Given the description of an element on the screen output the (x, y) to click on. 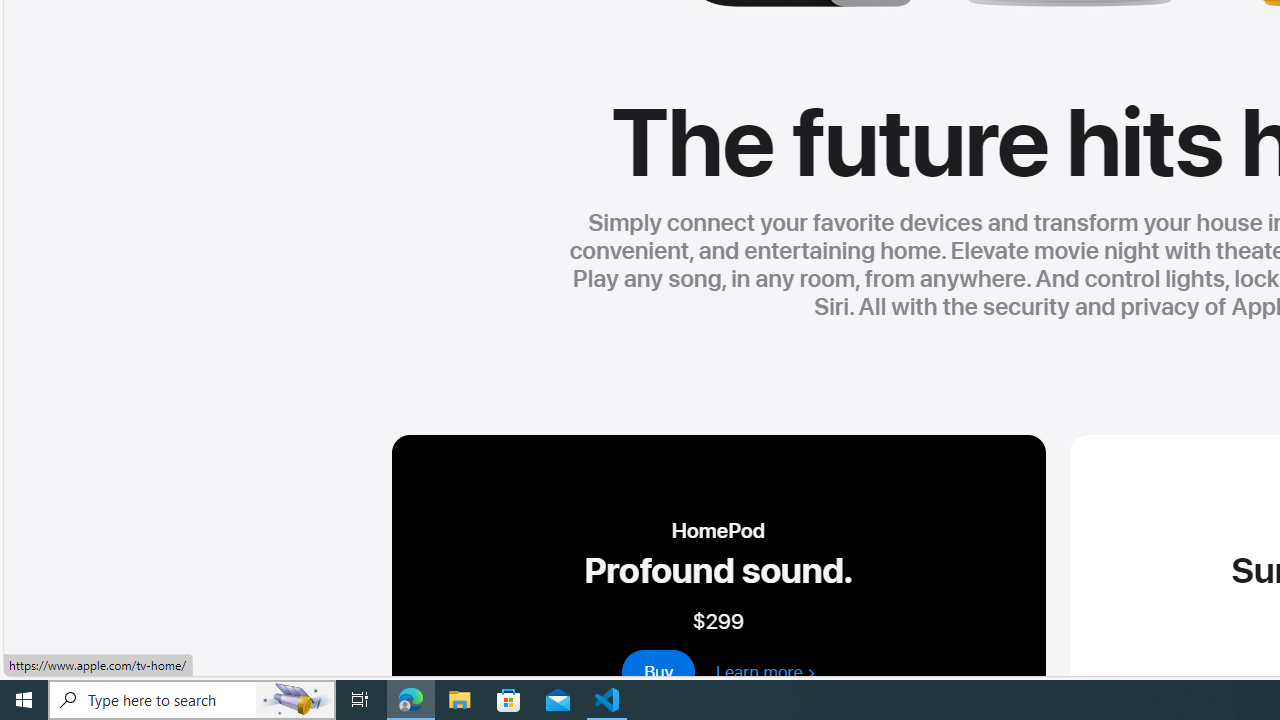
buy - homepod 2nd generation (659, 671)
learn more about homepod 2nd generation (765, 671)
